Given the description of an element on the screen output the (x, y) to click on. 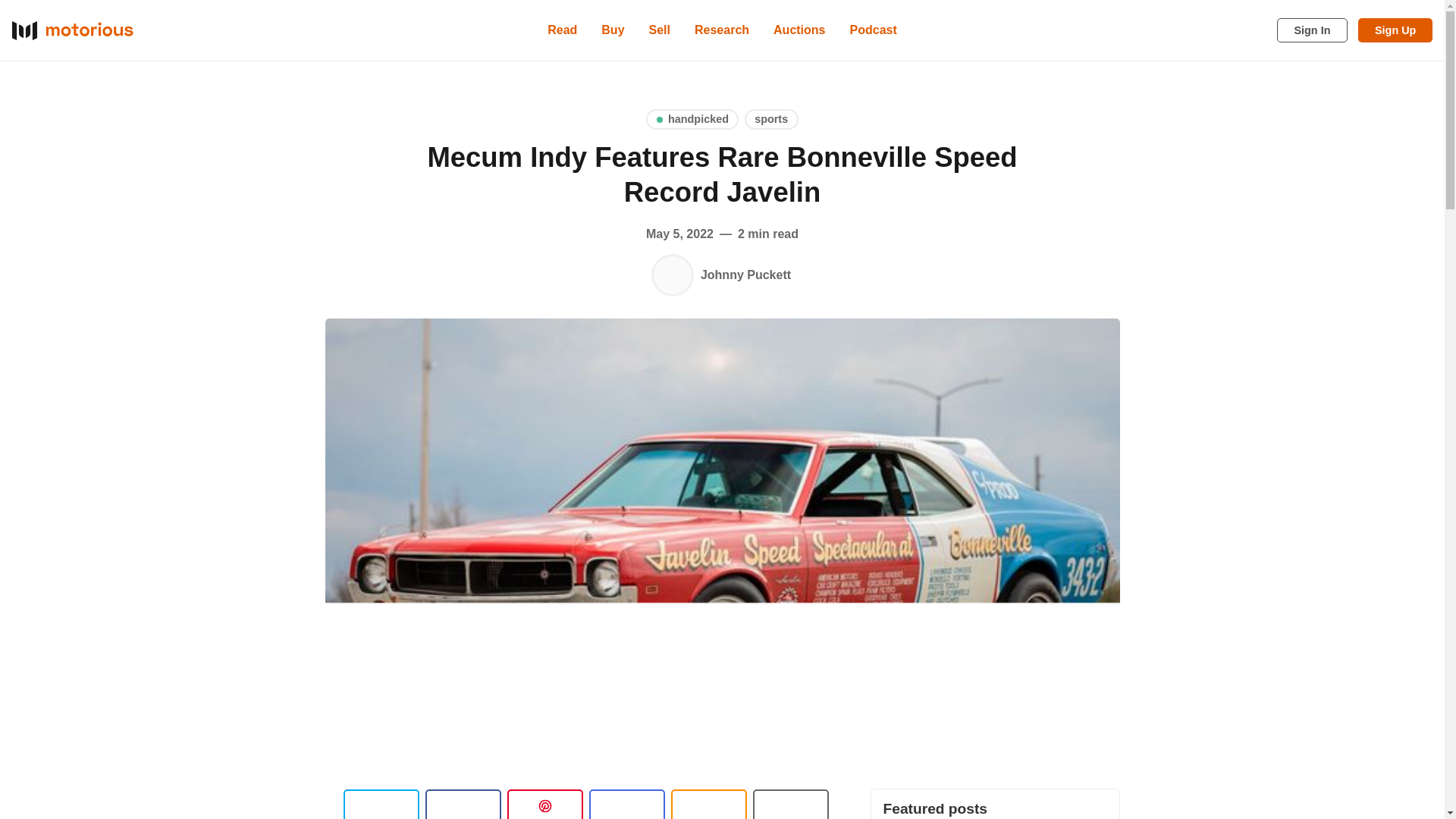
Auctions (799, 29)
Sign Up (1395, 30)
Share on Facebook (462, 804)
sports (770, 118)
handpicked (692, 118)
Share on Linkedin (544, 804)
Podcast (873, 29)
Copy to clipboard (707, 804)
handpicked (692, 118)
Share by email (625, 804)
